Given the description of an element on the screen output the (x, y) to click on. 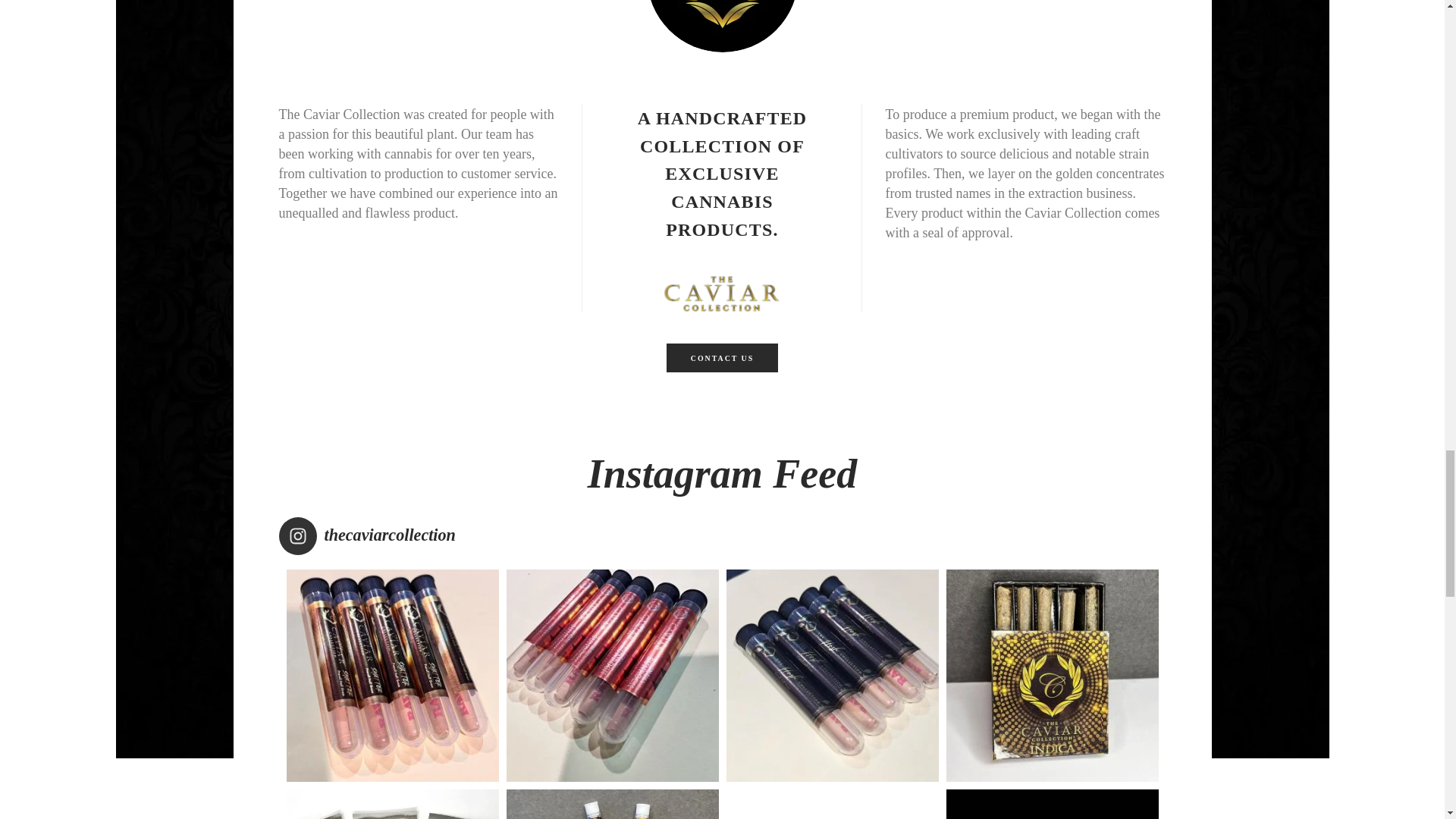
CaviarCGoldBlack (721, 26)
